Given the description of an element on the screen output the (x, y) to click on. 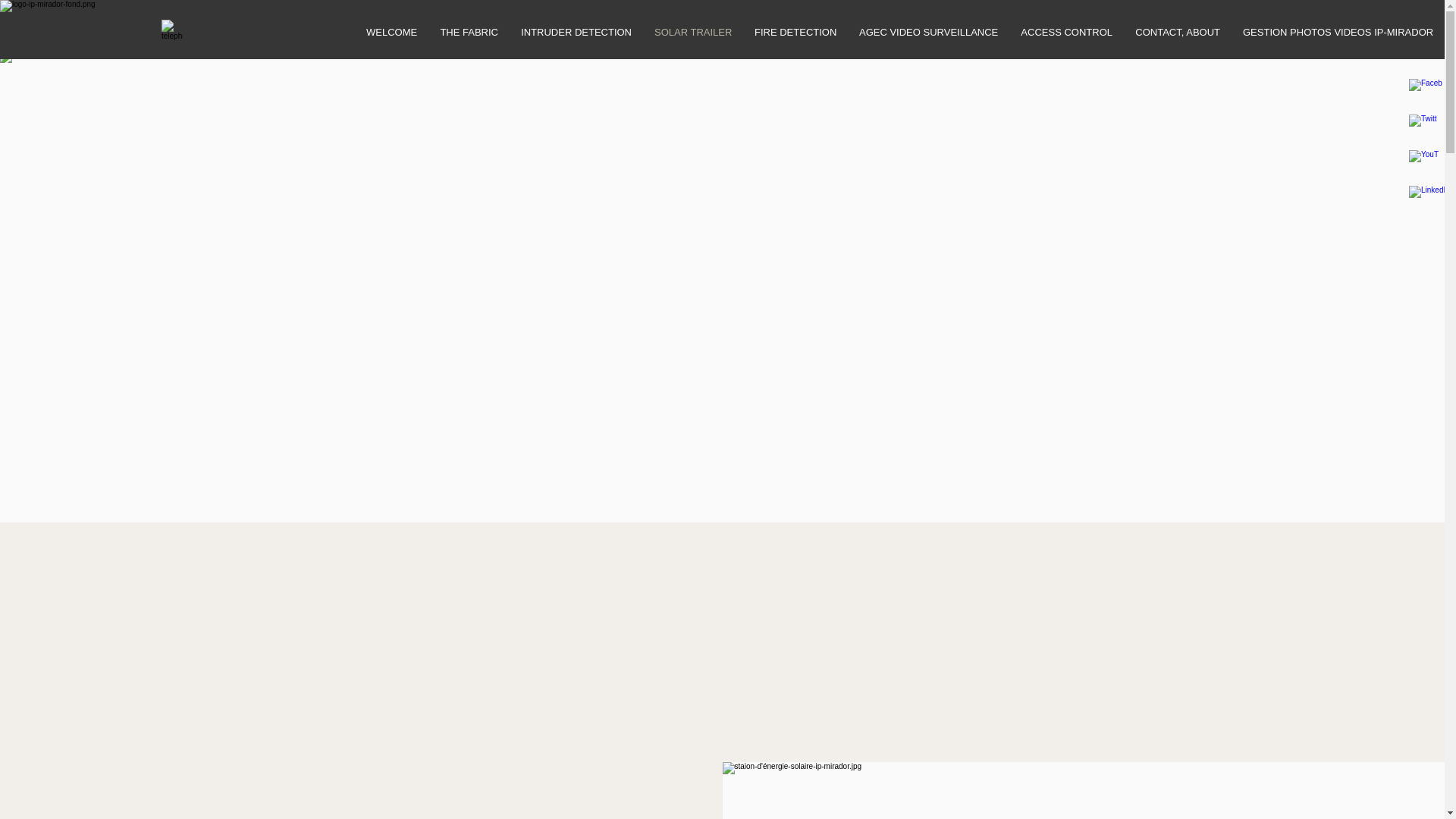
WELCOME (391, 32)
CONTACT, ABOUT (1177, 32)
SOLAR TRAILER (692, 32)
ACCESS CONTROL (1066, 32)
THE FABRIC (468, 32)
FIRE DETECTION (794, 32)
AGEC VIDEO SURVEILLANCE (928, 32)
INTRUDER DETECTION (576, 32)
